Given the description of an element on the screen output the (x, y) to click on. 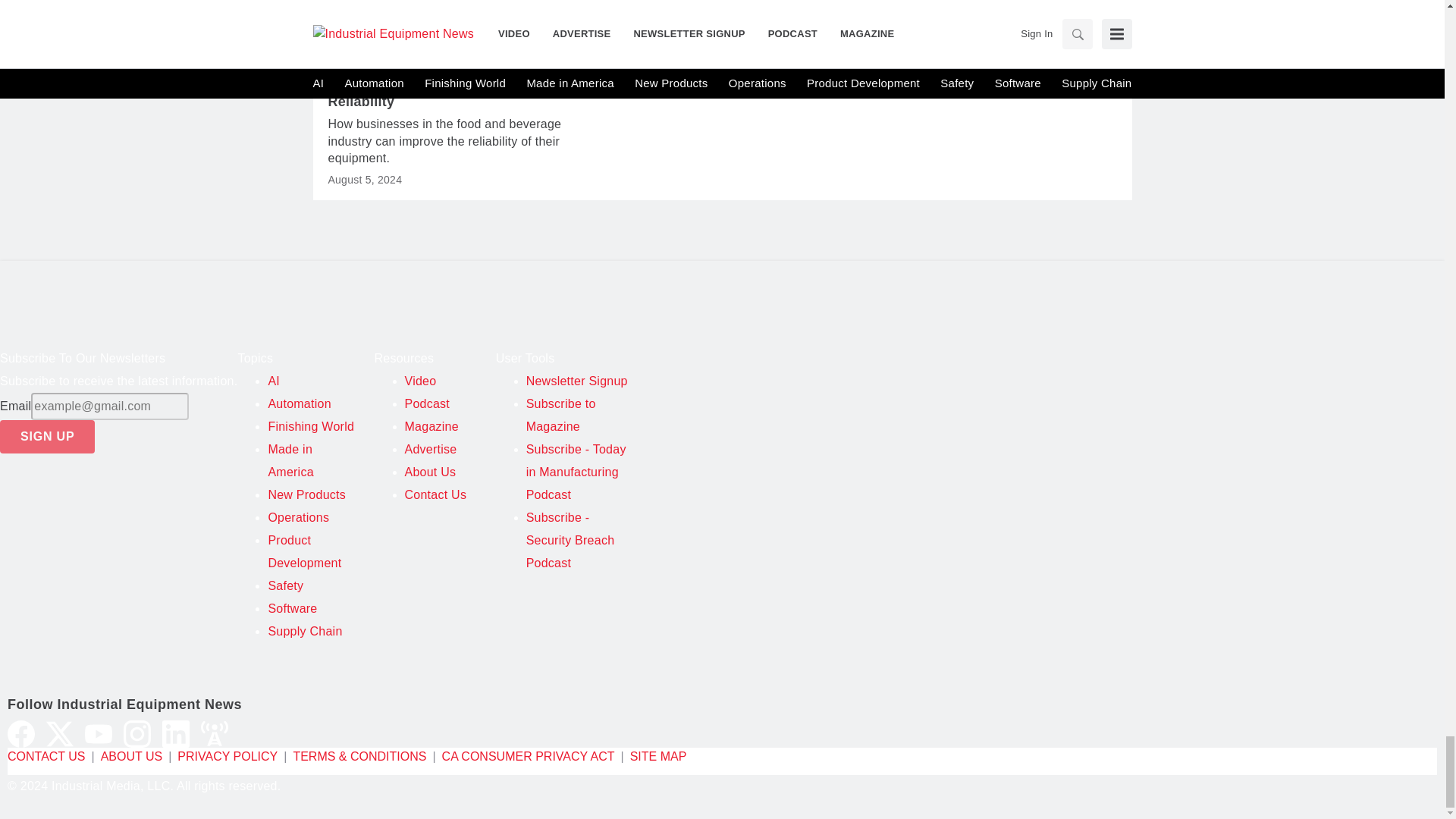
YouTube icon (98, 733)
Facebook icon (20, 733)
Twitter X icon (60, 733)
Instagram icon (137, 733)
LinkedIn icon (175, 733)
